Given the description of an element on the screen output the (x, y) to click on. 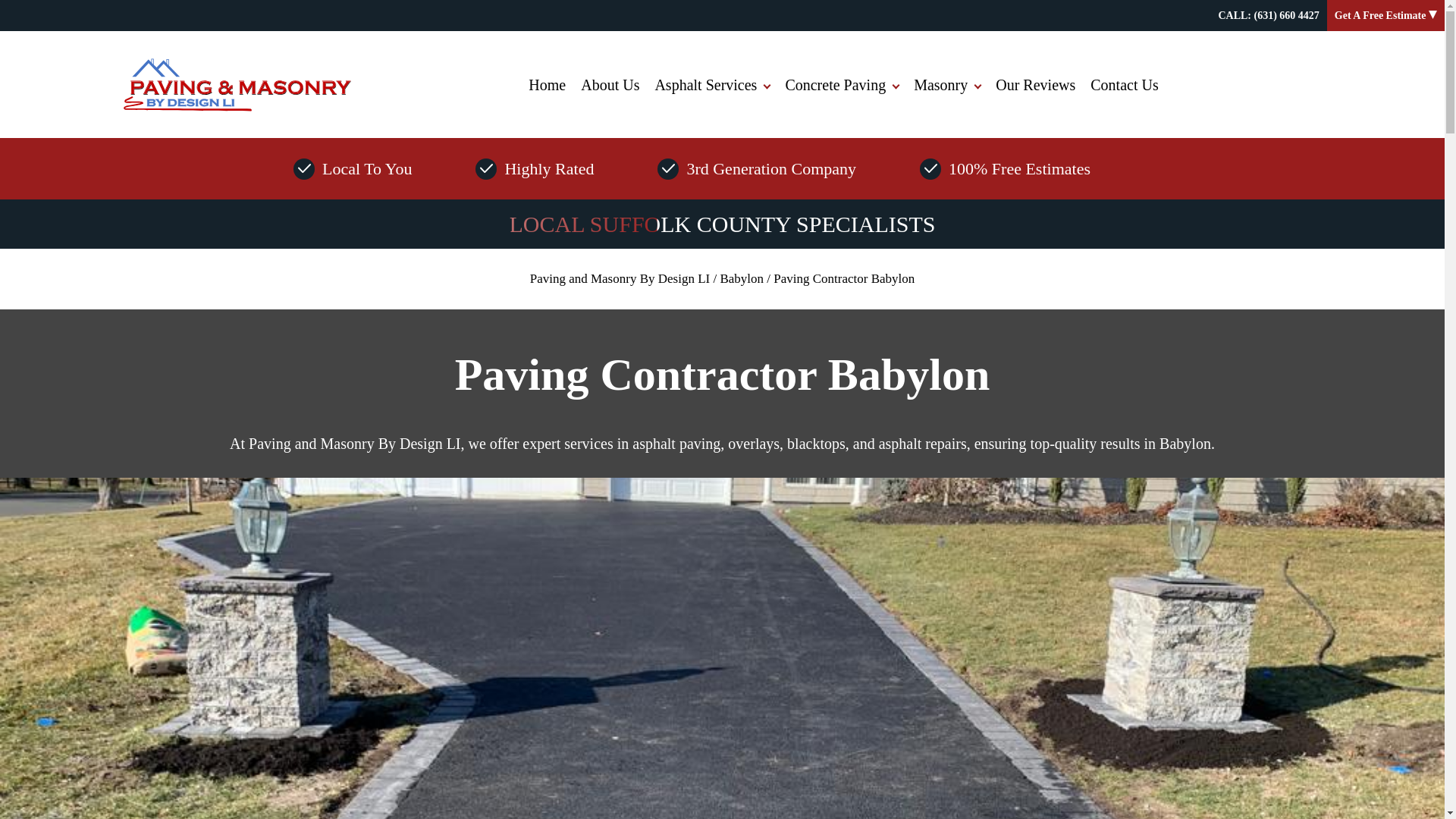
Home (547, 85)
Get A Free Estimate (1386, 15)
Masonry (946, 85)
Concrete Paving (841, 85)
Paving and Masonry By Design LI (619, 278)
Our Reviews (1035, 85)
Babylon (740, 278)
Asphalt Services (711, 85)
About Us (609, 85)
Contact Us (1124, 85)
